Given the description of an element on the screen output the (x, y) to click on. 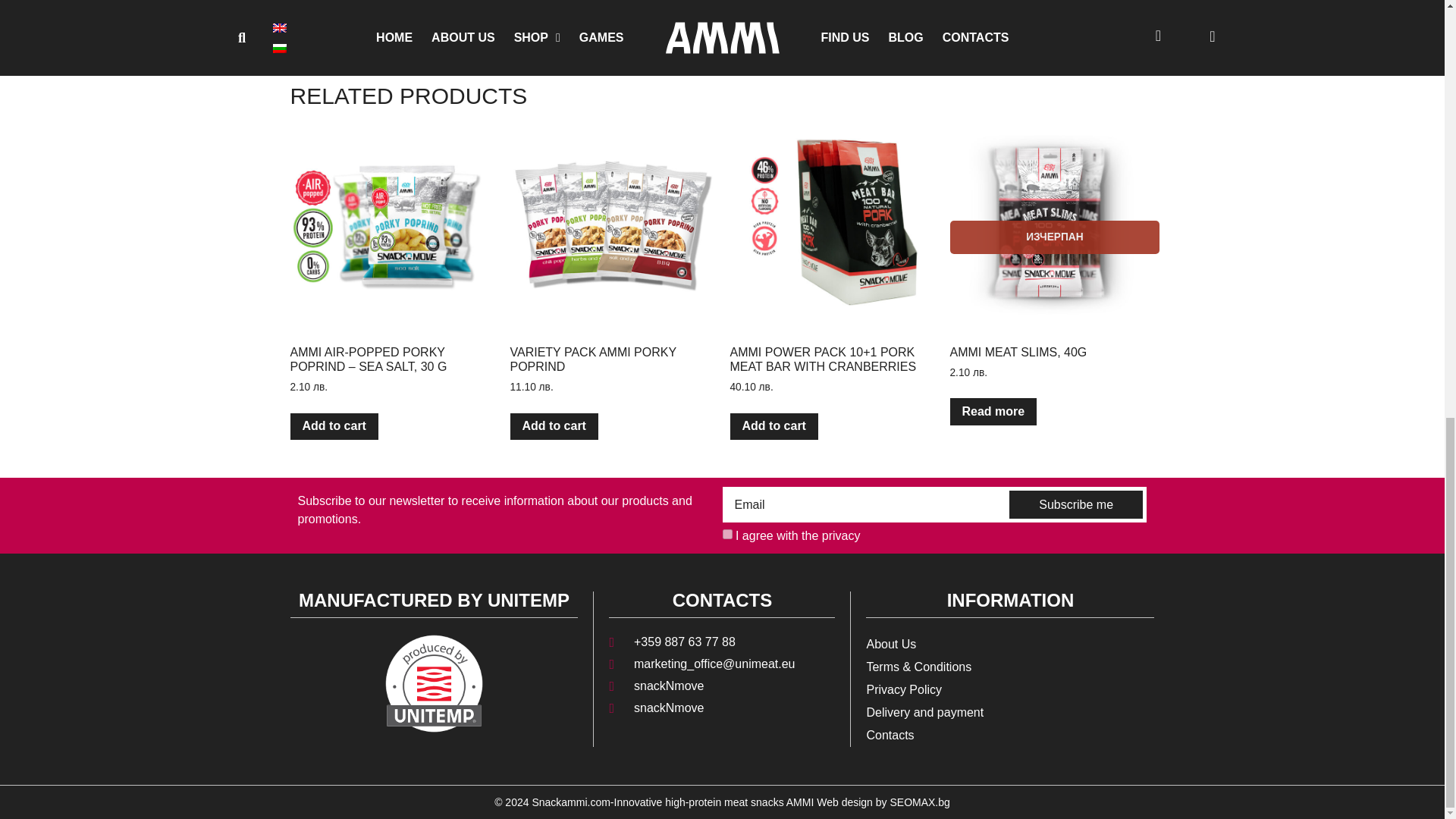
on (727, 533)
Digital Agency SEOMAX (883, 802)
